Given the description of an element on the screen output the (x, y) to click on. 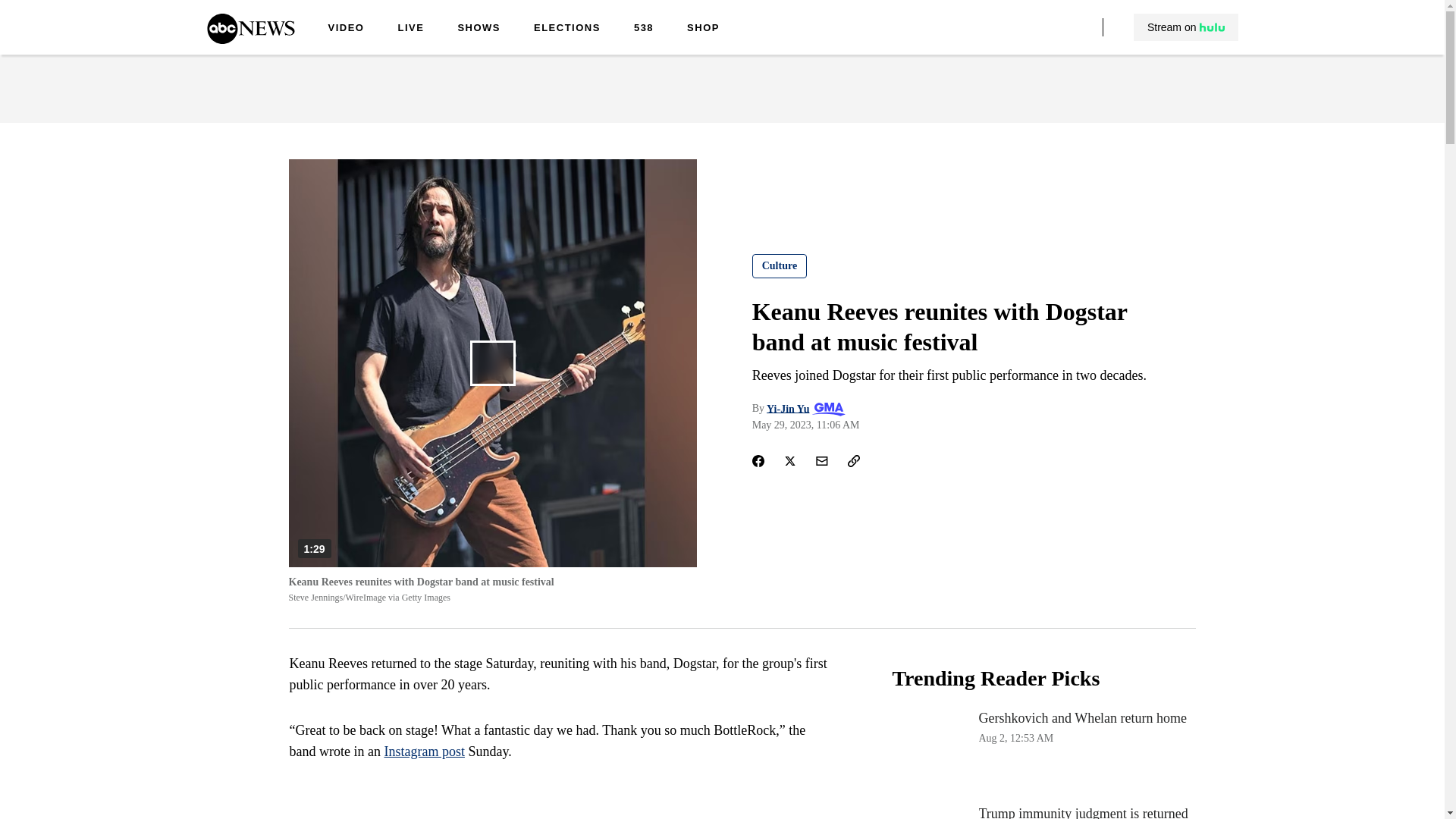
Yi-Jin Yu (788, 408)
Stream on (1185, 27)
538 (643, 28)
Culture (779, 265)
LIVE (410, 28)
Instagram post (424, 751)
ABC News (250, 38)
SHOWS (478, 28)
VIDEO (345, 28)
SHOP (703, 28)
Stream on (1186, 26)
ELECTIONS (1043, 748)
